Given the description of an element on the screen output the (x, y) to click on. 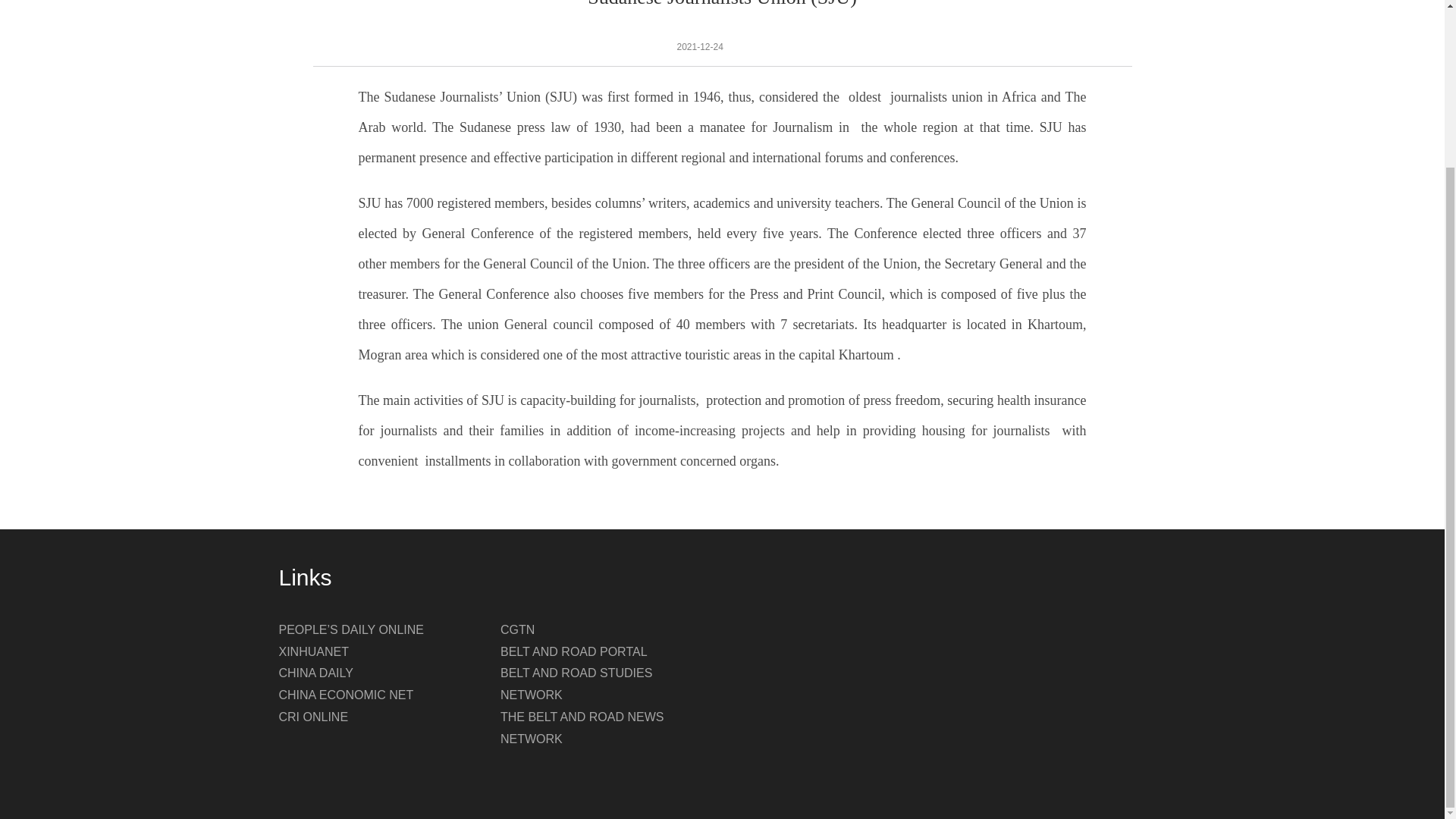
XINHUANET (314, 651)
CHINA DAILY (316, 672)
CHINA ECONOMIC NET (346, 694)
BELT AND ROAD PORTAL (573, 651)
CGTN (517, 629)
CRI ONLINE (314, 716)
BELT AND ROAD STUDIES NETWORK (576, 683)
THE BELT AND ROAD NEWS NETWORK (581, 727)
